Given the description of an element on the screen output the (x, y) to click on. 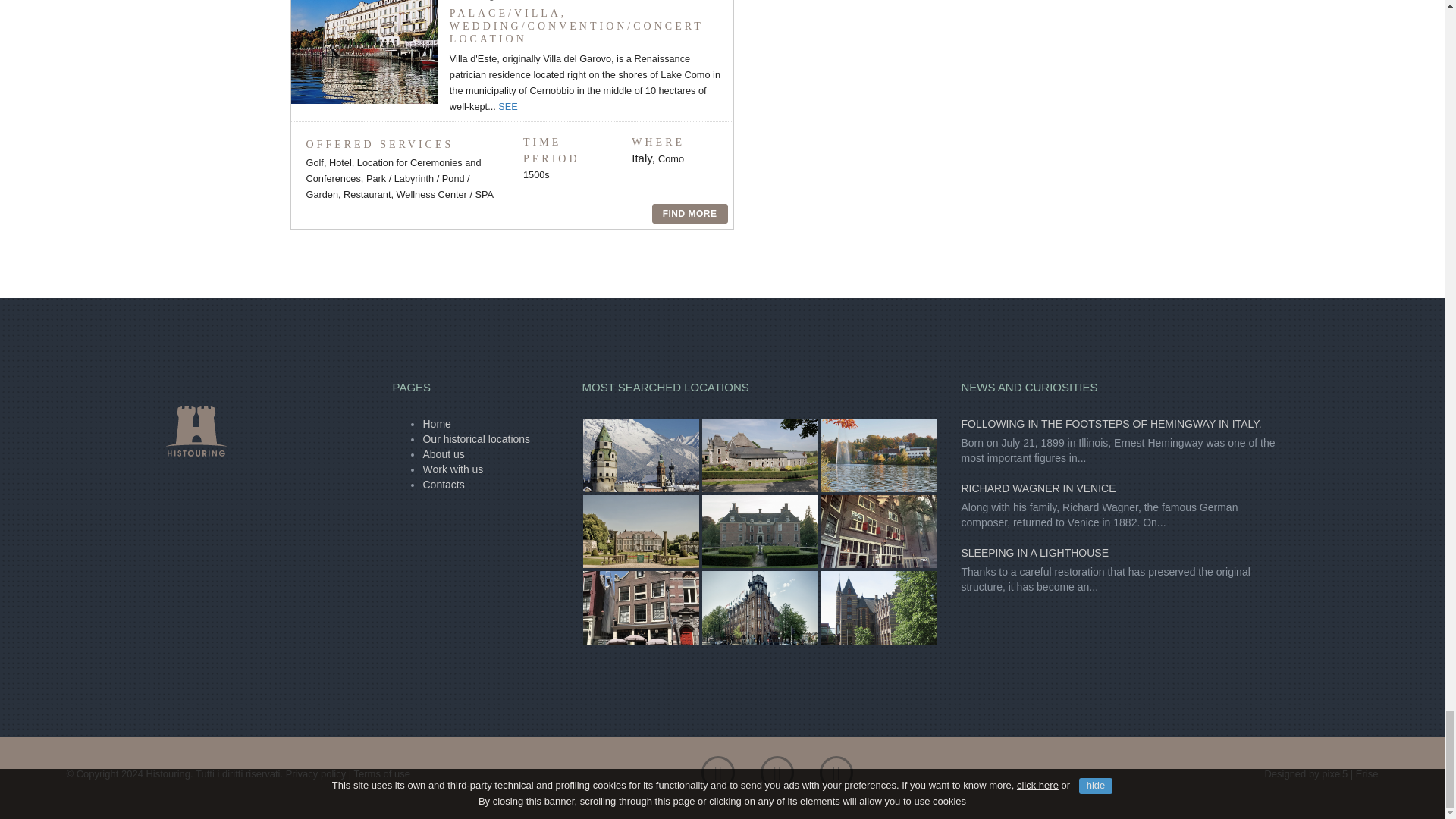
About us (443, 453)
SLEEPING IN A LIGHTHOUSE (1034, 552)
FOLLOWING IN THE FOOTSTEPS OF HEMINGWAY IN ITALY. (1110, 423)
Terms of use (381, 773)
SEE (507, 106)
Contacts (443, 484)
RICHARD WAGNER IN VENICE (1037, 488)
Home (435, 423)
Our historical locations (475, 439)
Vai su Amazon (836, 776)
Privacy policy (315, 773)
Work with us (452, 469)
FIND MORE (690, 213)
